Given the description of an element on the screen output the (x, y) to click on. 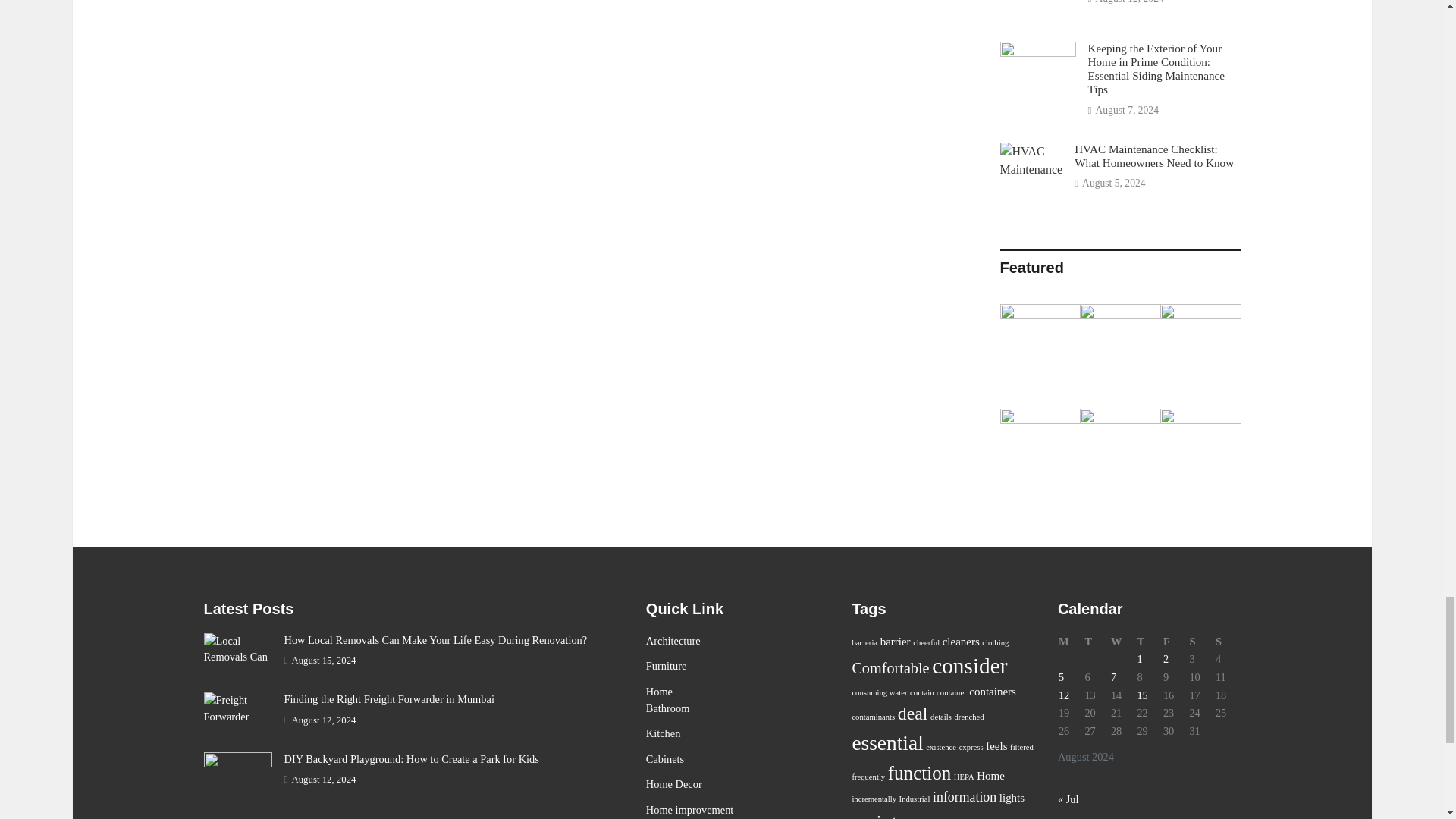
Wednesday (1123, 642)
Saturday (1201, 642)
Monday (1071, 642)
Sunday (1227, 642)
Thursday (1148, 642)
Friday (1175, 642)
Tuesday (1096, 642)
